Given the description of an element on the screen output the (x, y) to click on. 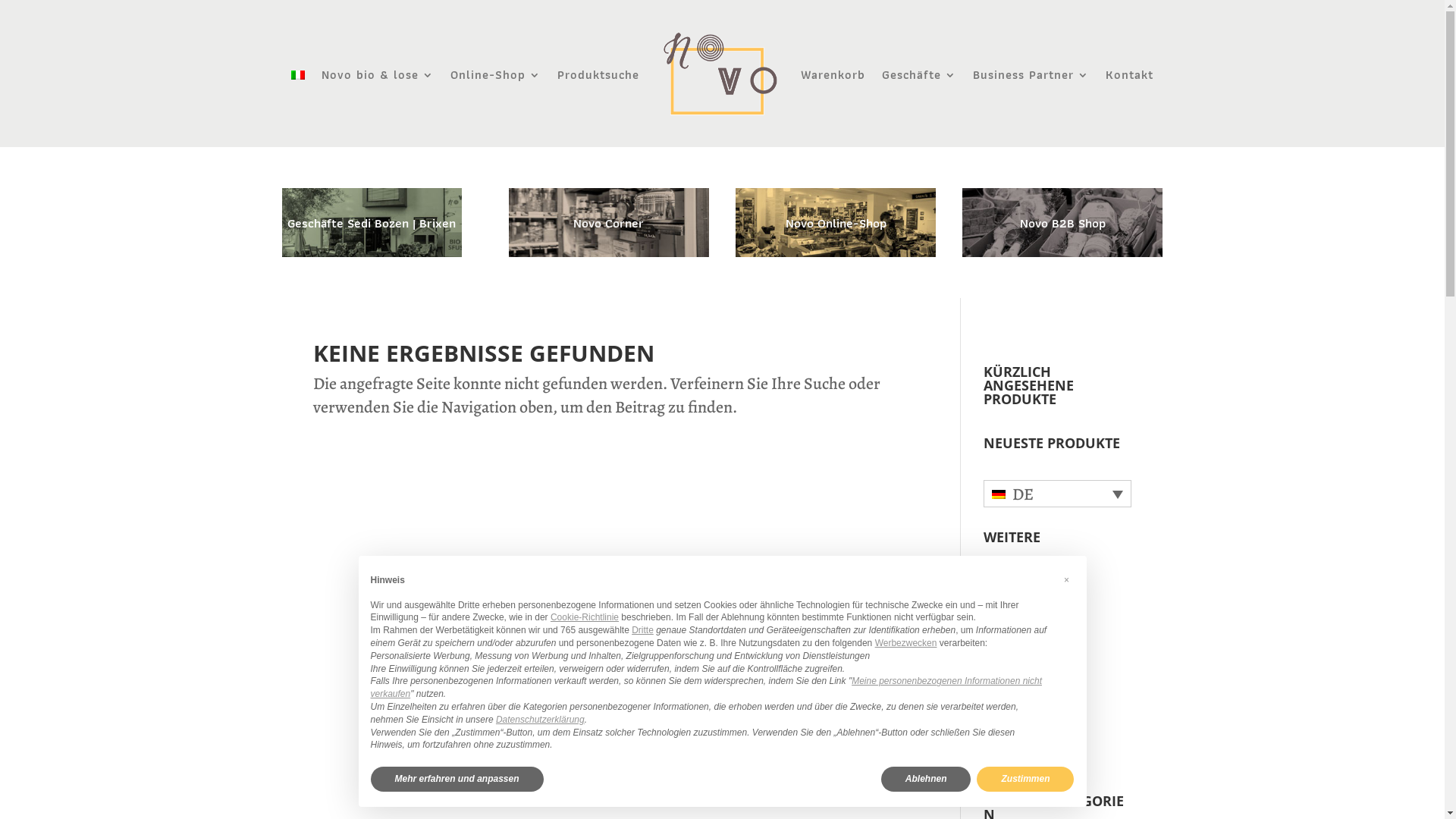
Business Partner Element type: text (1030, 75)
Ablehnen Element type: text (926, 778)
DE Element type: text (1057, 493)
Kontakt Element type: text (1129, 75)
Zustimmen Element type: text (1024, 778)
Dritte Element type: text (642, 629)
Novo bio & lose Element type: text (377, 75)
Cookie-Richtlinie Element type: text (584, 616)
Warenkorb Element type: text (832, 75)
Werbezwecken Element type: text (906, 642)
Produktsuche Element type: text (598, 75)
Mehr erfahren und anpassen Element type: text (456, 778)
Meine personenbezogenen Informationen nicht verkaufen Element type: text (705, 687)
Online-Shop Element type: text (495, 75)
